Given the description of an element on the screen output the (x, y) to click on. 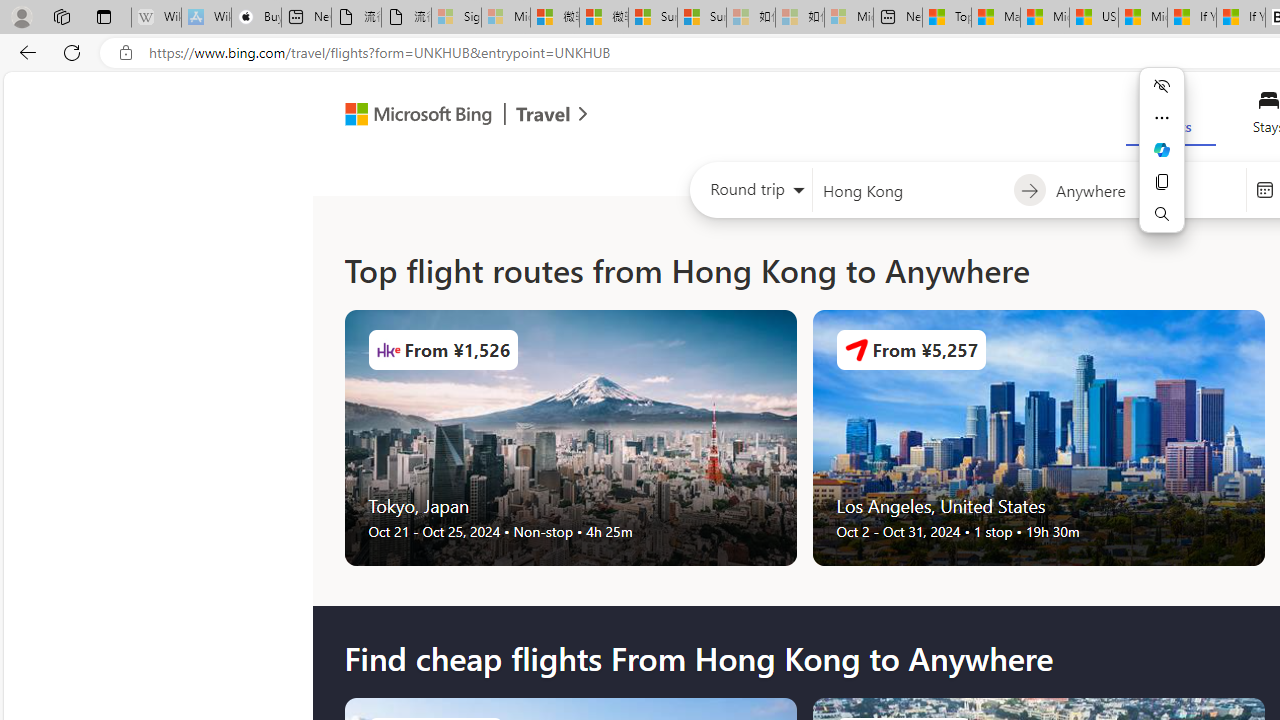
Class: autosuggest-container full-height no-y-padding (1145, 190)
Mini menu on text selection (1162, 149)
Marine life - MSN (995, 17)
to (1029, 191)
Select trip type (750, 193)
Going to? (1145, 190)
Wikipedia - Sleeping (155, 17)
Copy (1162, 182)
Leaving from? (912, 190)
